Given the description of an element on the screen output the (x, y) to click on. 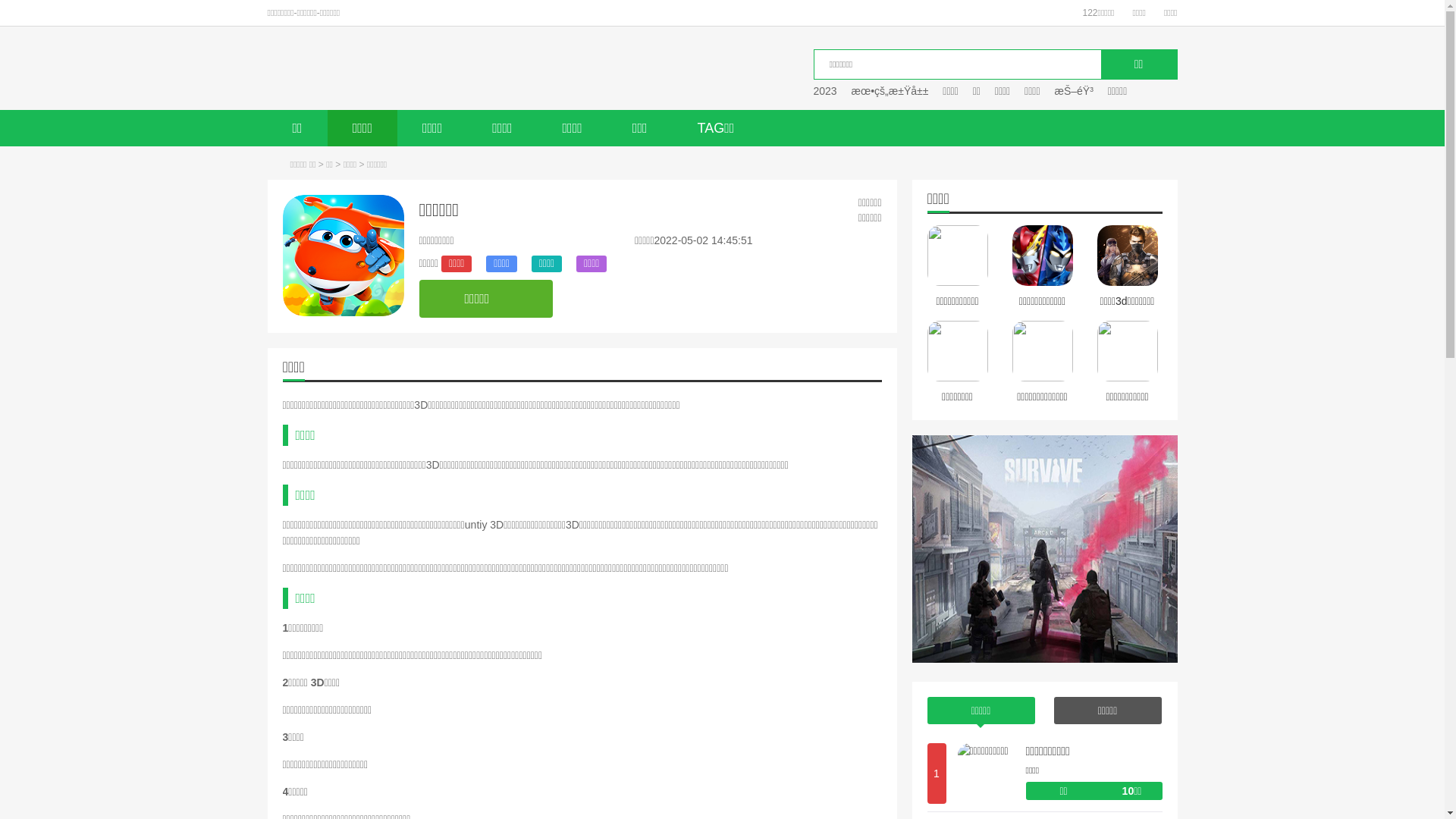
2023 Element type: text (824, 90)
